Given the description of an element on the screen output the (x, y) to click on. 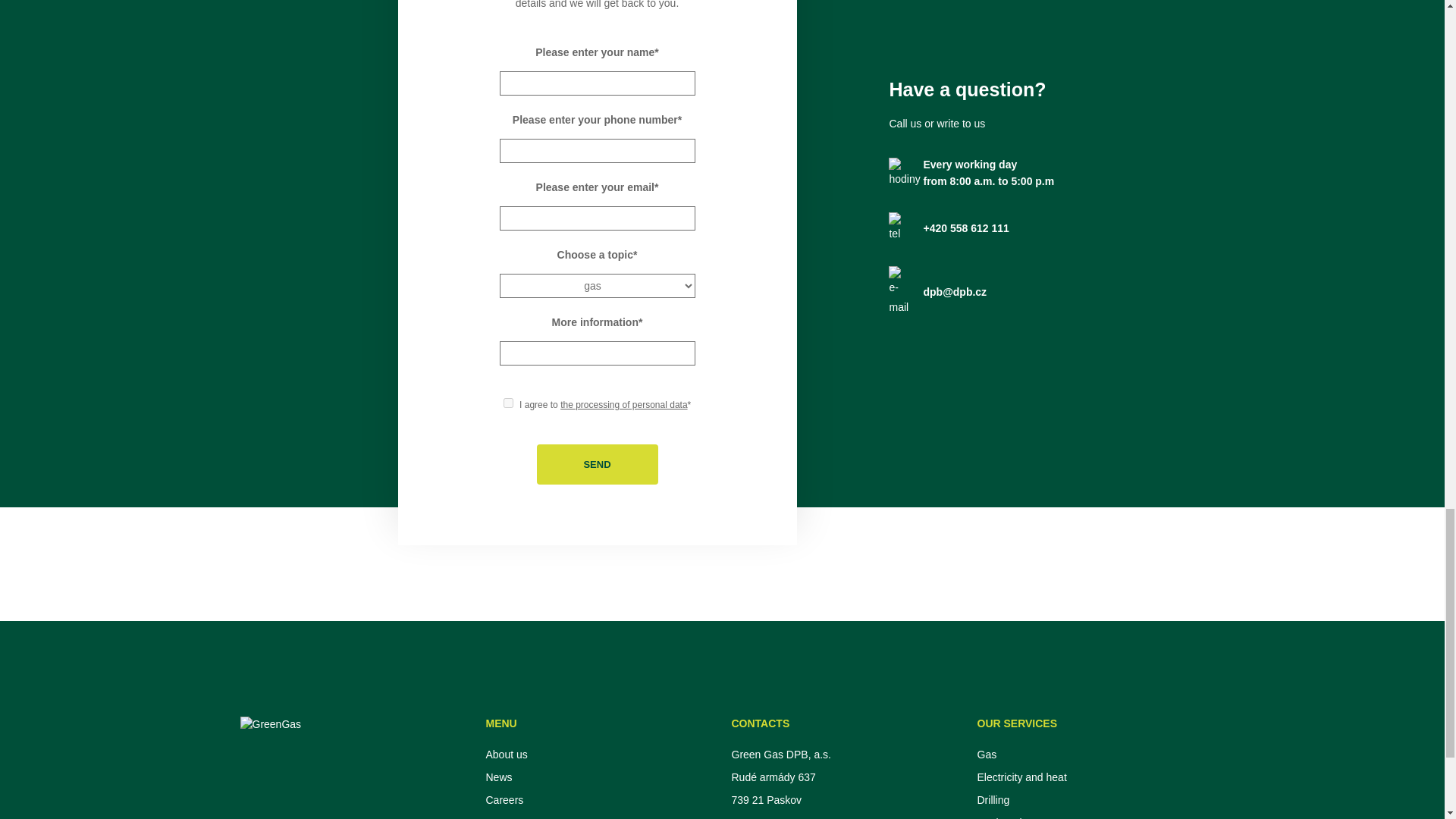
1 (508, 402)
Send (597, 464)
